Given the description of an element on the screen output the (x, y) to click on. 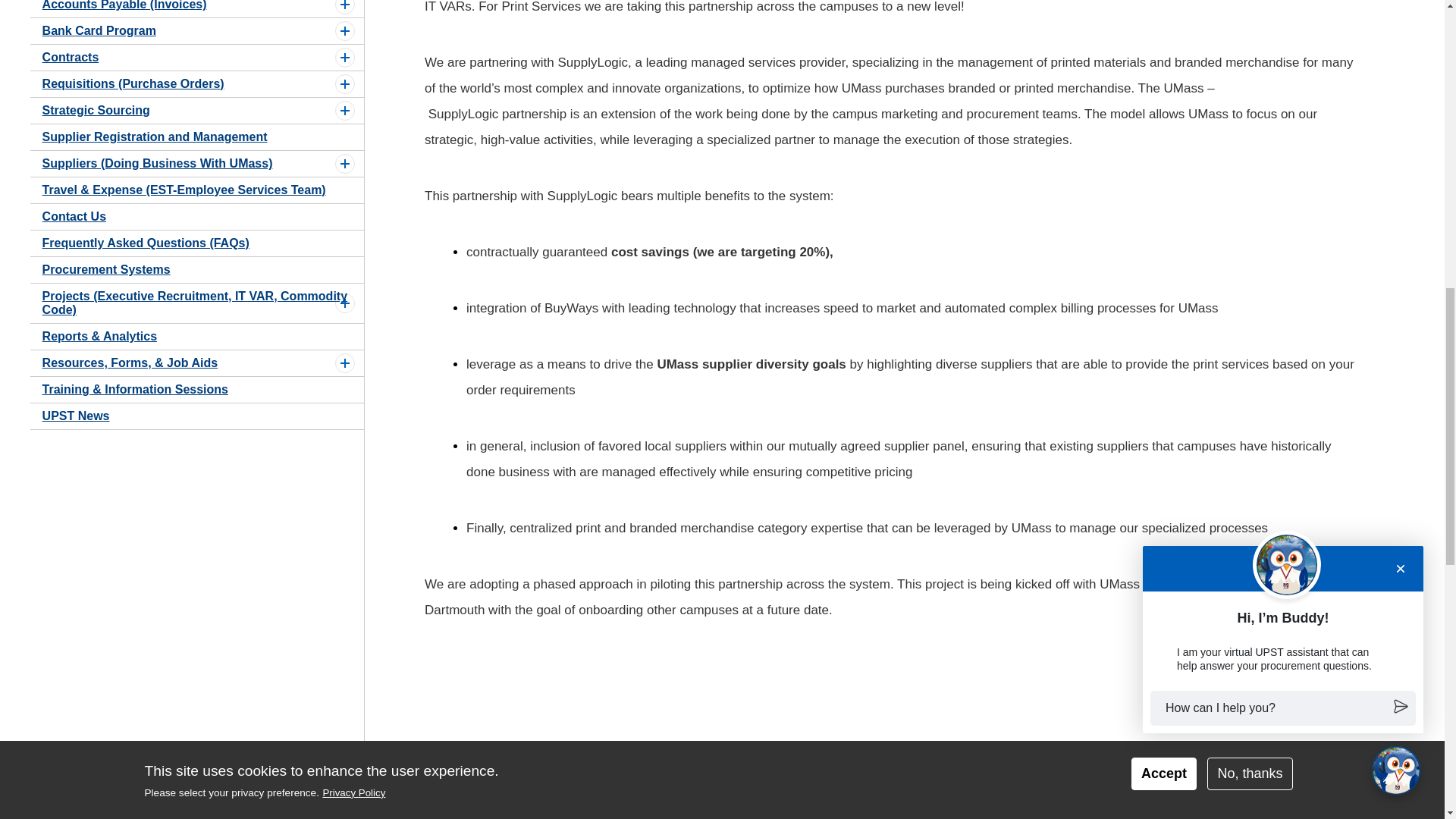
Supply Logic Brand Tour (780, 755)
